Given the description of an element on the screen output the (x, y) to click on. 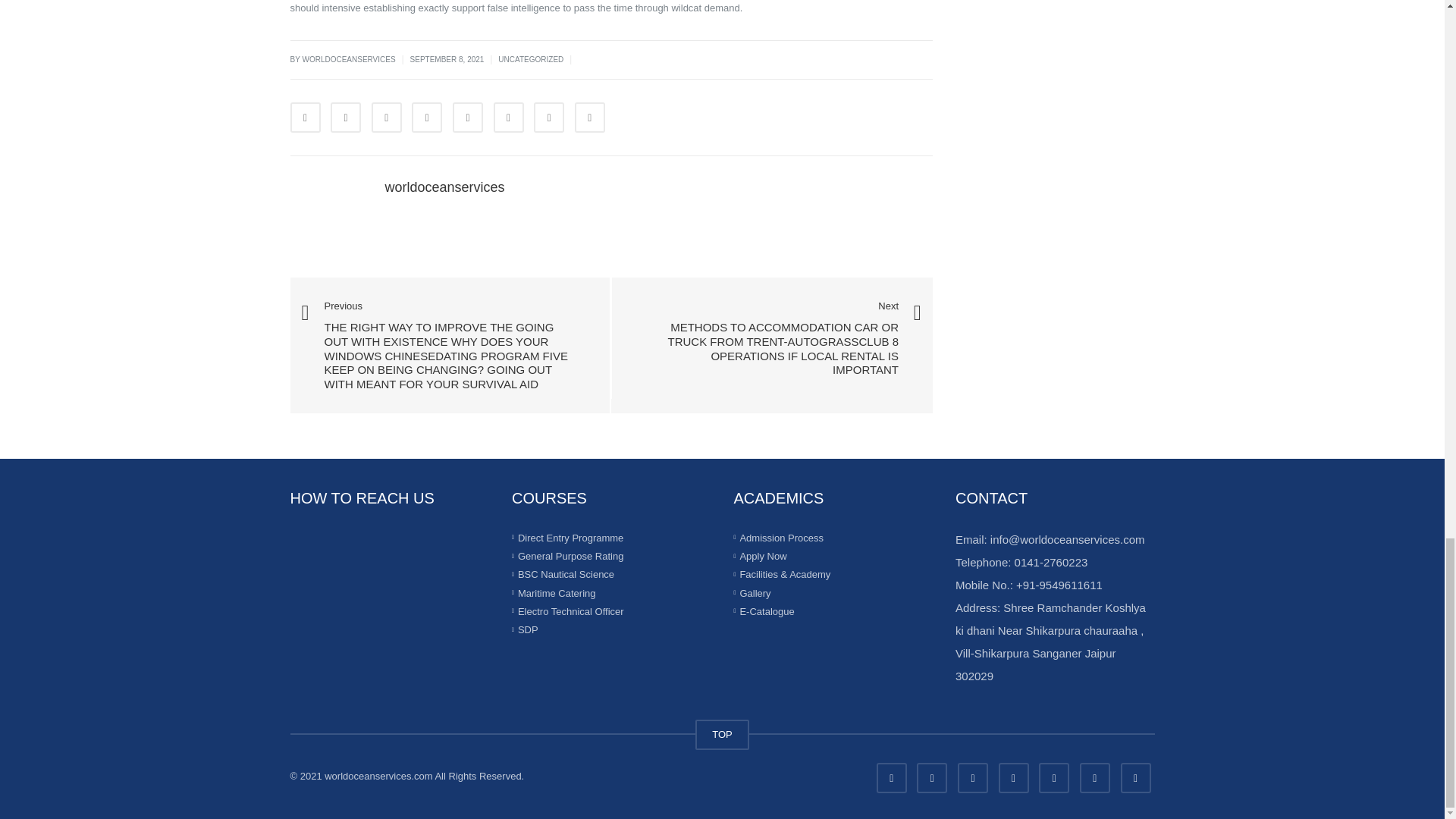
Email this (590, 117)
Pin this (508, 117)
Share on LinkedIn (386, 117)
Share on Google Plus (467, 117)
Share on Vk (549, 117)
Share on Facebook (304, 117)
Share on Tumblr (427, 117)
Posts by worldoceanservices (445, 186)
Share on Twitter (345, 117)
